Given the description of an element on the screen output the (x, y) to click on. 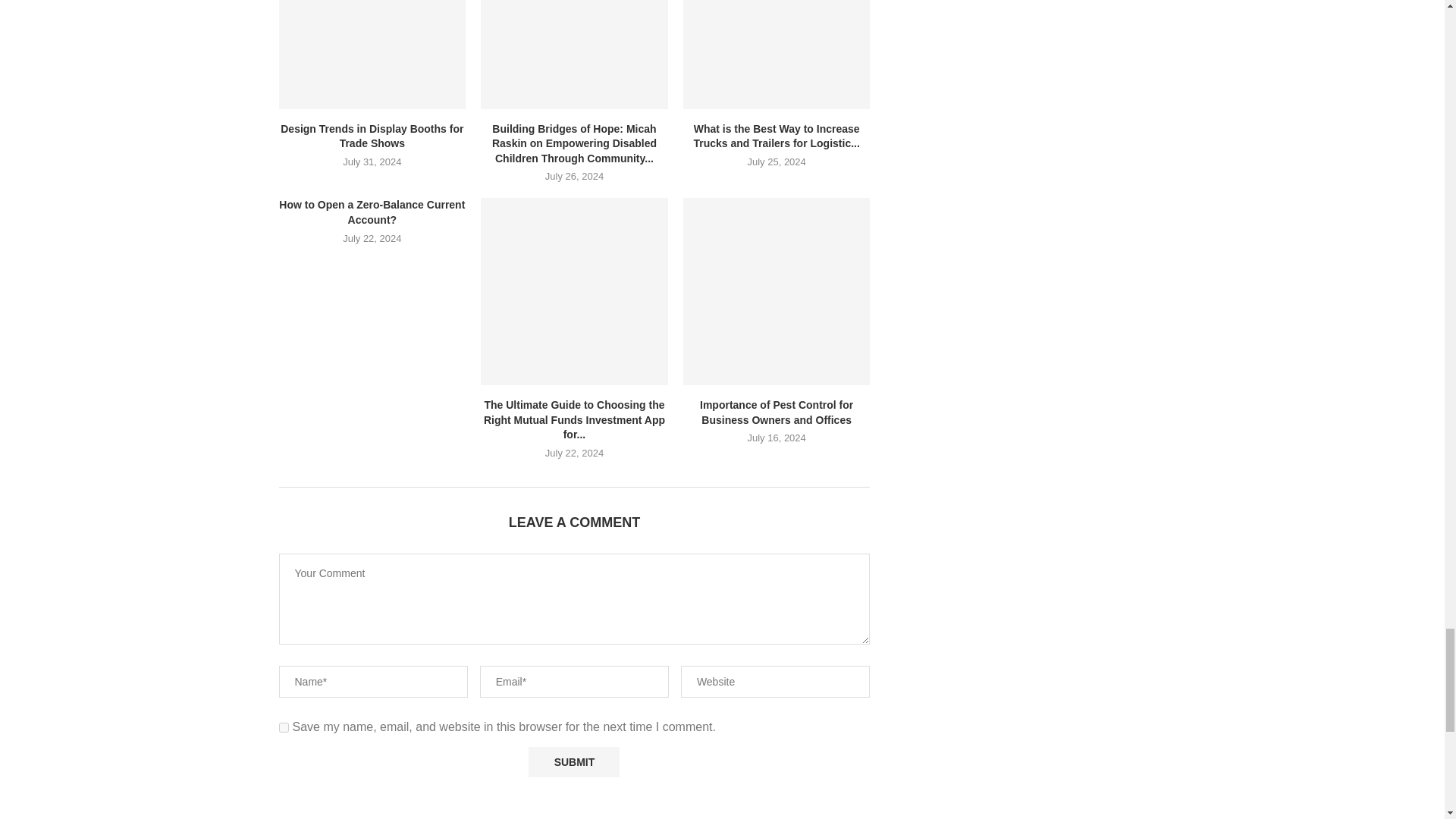
yes (283, 727)
Submit (574, 761)
